Given the description of an element on the screen output the (x, y) to click on. 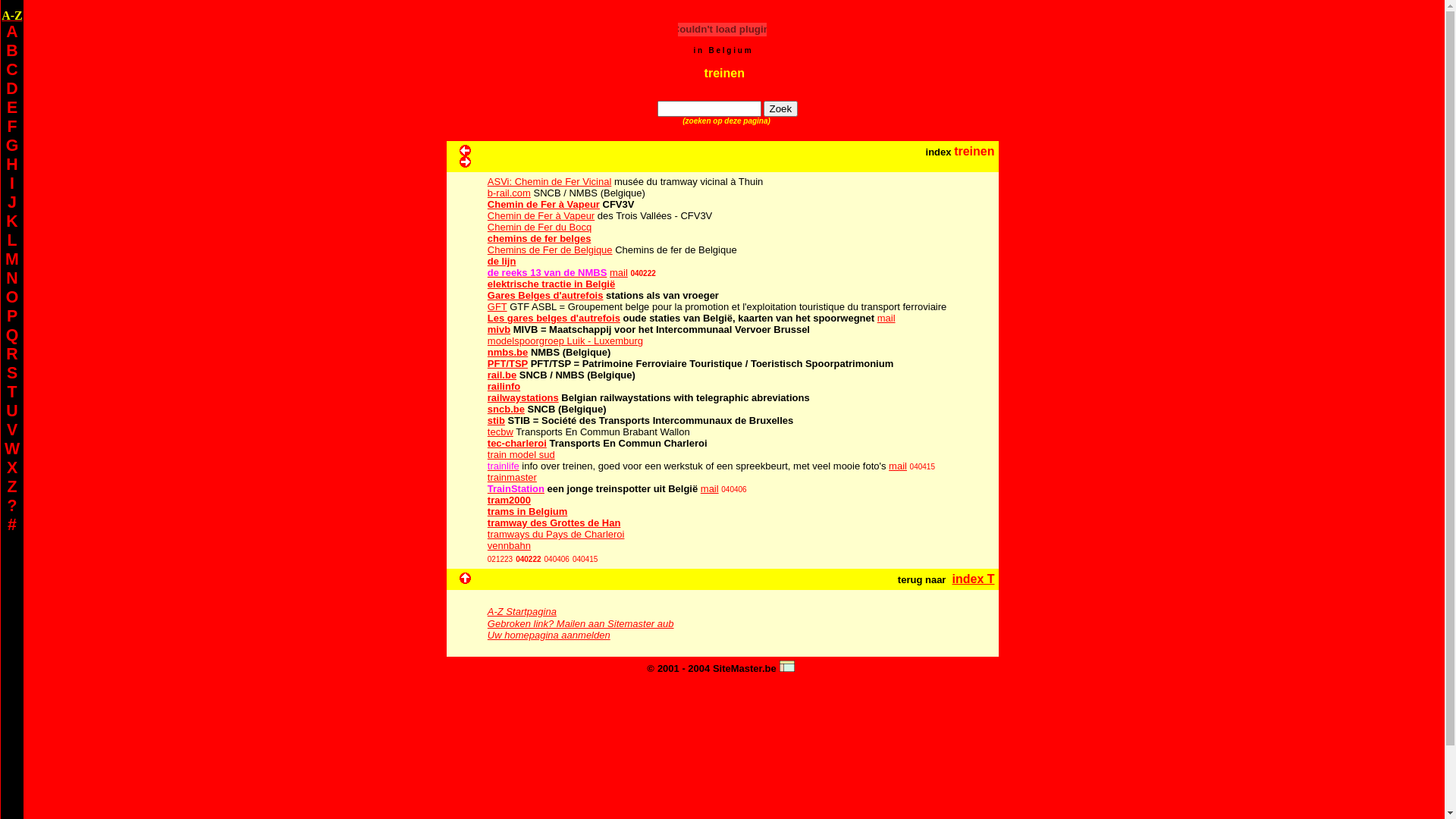
tramway des Grottes de Han Element type: text (554, 522)
tramways du Pays de Charleroi Element type: text (555, 533)
chemins de fer belges Element type: text (539, 238)
? Element type: text (11, 505)
O Element type: text (12, 297)
D Element type: text (11, 88)
railwaystations Element type: text (522, 397)
mivb Element type: text (498, 329)
A-Z Element type: text (11, 15)
de reeks 13 van de NMBS Element type: text (547, 272)
railinfo Element type: text (503, 386)
b-rail.com Element type: text (508, 192)
tec-charleroi Element type: text (516, 442)
A Element type: text (11, 31)
TrainStation Element type: text (515, 488)
Uw homepagina aanmelden Element type: text (548, 634)
I Element type: text (11, 183)
G Element type: text (12, 145)
V Element type: text (11, 429)
U Element type: text (11, 410)
mail Element type: text (709, 488)
P Element type: text (11, 316)
S Element type: text (11, 373)
H Element type: text (11, 164)
mail Element type: text (618, 272)
index T Element type: text (972, 578)
X Element type: text (11, 467)
vennbahn Element type: text (508, 545)
rail.be Element type: text (501, 374)
F Element type: text (11, 126)
ASVi: Chemin de Fer Vicinal Element type: text (549, 181)
M Element type: text (11, 259)
Chemin de Fer du Bocq Element type: text (539, 226)
de lijn Element type: text (501, 260)
R Element type: text (11, 354)
mail Element type: text (897, 465)
Gebroken link? Mailen aan Sitemaster aub Element type: text (580, 623)
J Element type: text (11, 202)
Chemins de Fer de Belgique Element type: text (549, 249)
Z Element type: text (11, 486)
Q Element type: text (12, 335)
stib Element type: text (496, 420)
E Element type: text (11, 107)
Gares Belges d'autrefois Element type: text (545, 295)
tram2000 Element type: text (508, 499)
T Element type: text (11, 391)
GFT Element type: text (497, 306)
modelspoorgroep Luik - Luxemburg Element type: text (565, 340)
# Element type: text (11, 524)
sncb.be Element type: text (505, 408)
trainlife Element type: text (503, 465)
K Element type: text (11, 221)
nmbs.be Element type: text (507, 351)
L Element type: text (11, 240)
mail Element type: text (886, 317)
C Element type: text (11, 69)
N Element type: text (11, 278)
PFT/TSP Element type: text (507, 363)
tecbw Element type: text (500, 431)
A-Z Startpagina Element type: text (521, 611)
treinen Element type: text (724, 72)
trams in Belgium Element type: text (527, 511)
Les gares belges d'autrefois Element type: text (553, 317)
Zoek Element type: text (780, 108)
W Element type: text (11, 448)
trainmaster Element type: text (511, 477)
train model sud Element type: text (521, 454)
B Element type: text (11, 50)
